Given the description of an element on the screen output the (x, y) to click on. 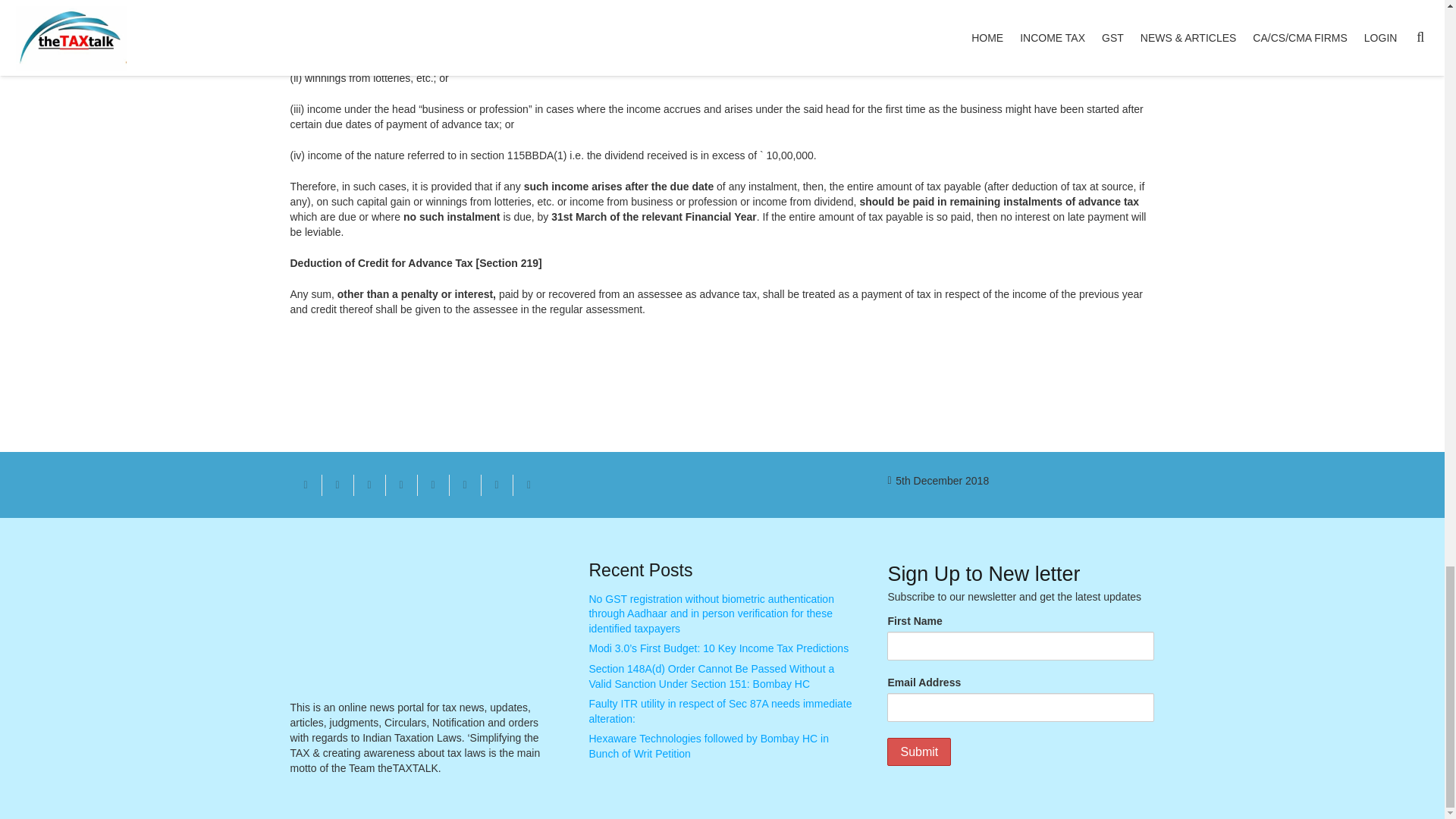
Share this (464, 485)
Share this (496, 485)
Submit (918, 751)
Pin this (432, 485)
Tweet this (369, 485)
Share this (528, 485)
Share this (400, 485)
Email this (305, 485)
Share this (337, 485)
